Given the description of an element on the screen output the (x, y) to click on. 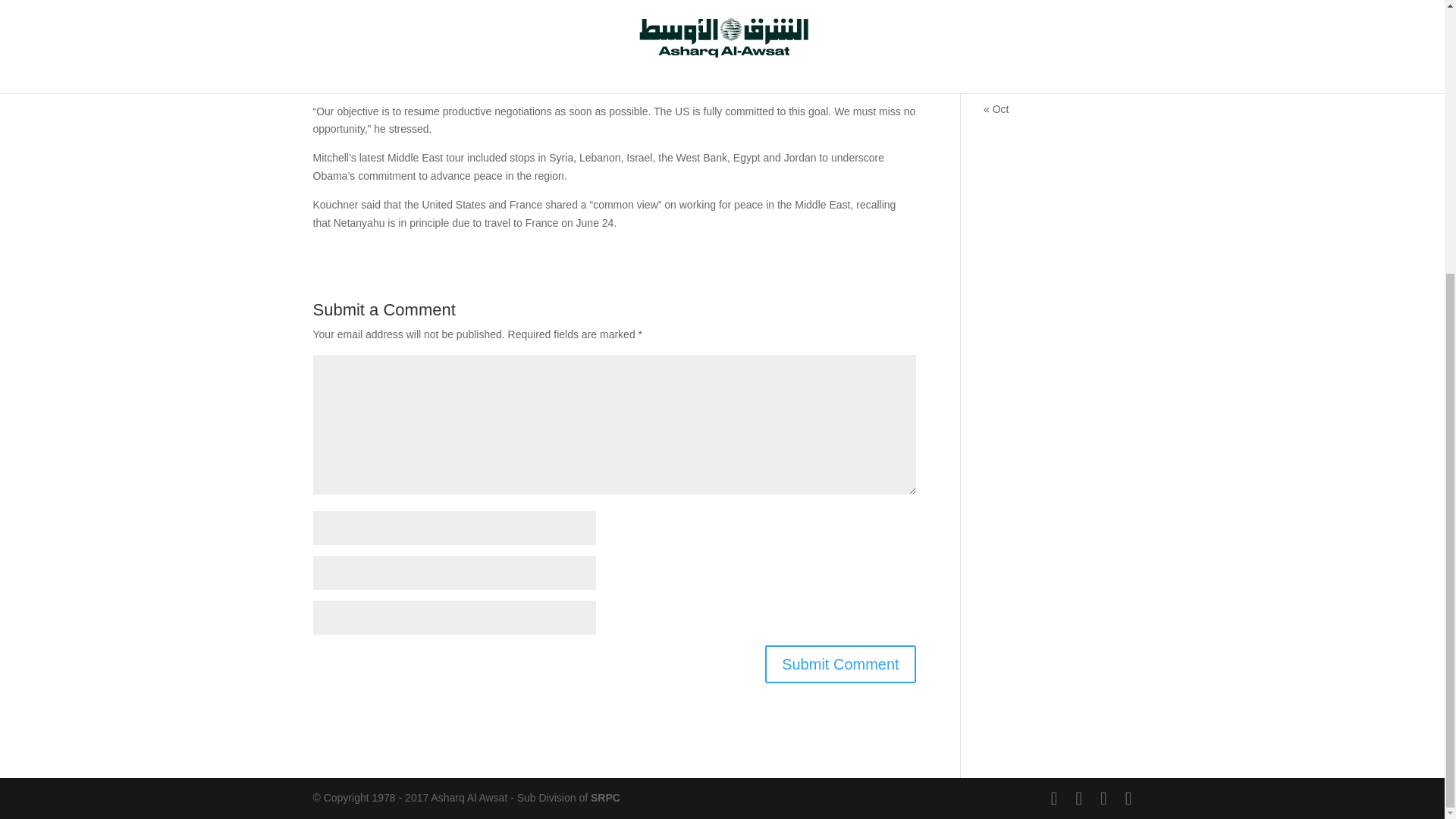
SRPC (605, 797)
Submit Comment (840, 664)
Submit Comment (840, 664)
